Given the description of an element on the screen output the (x, y) to click on. 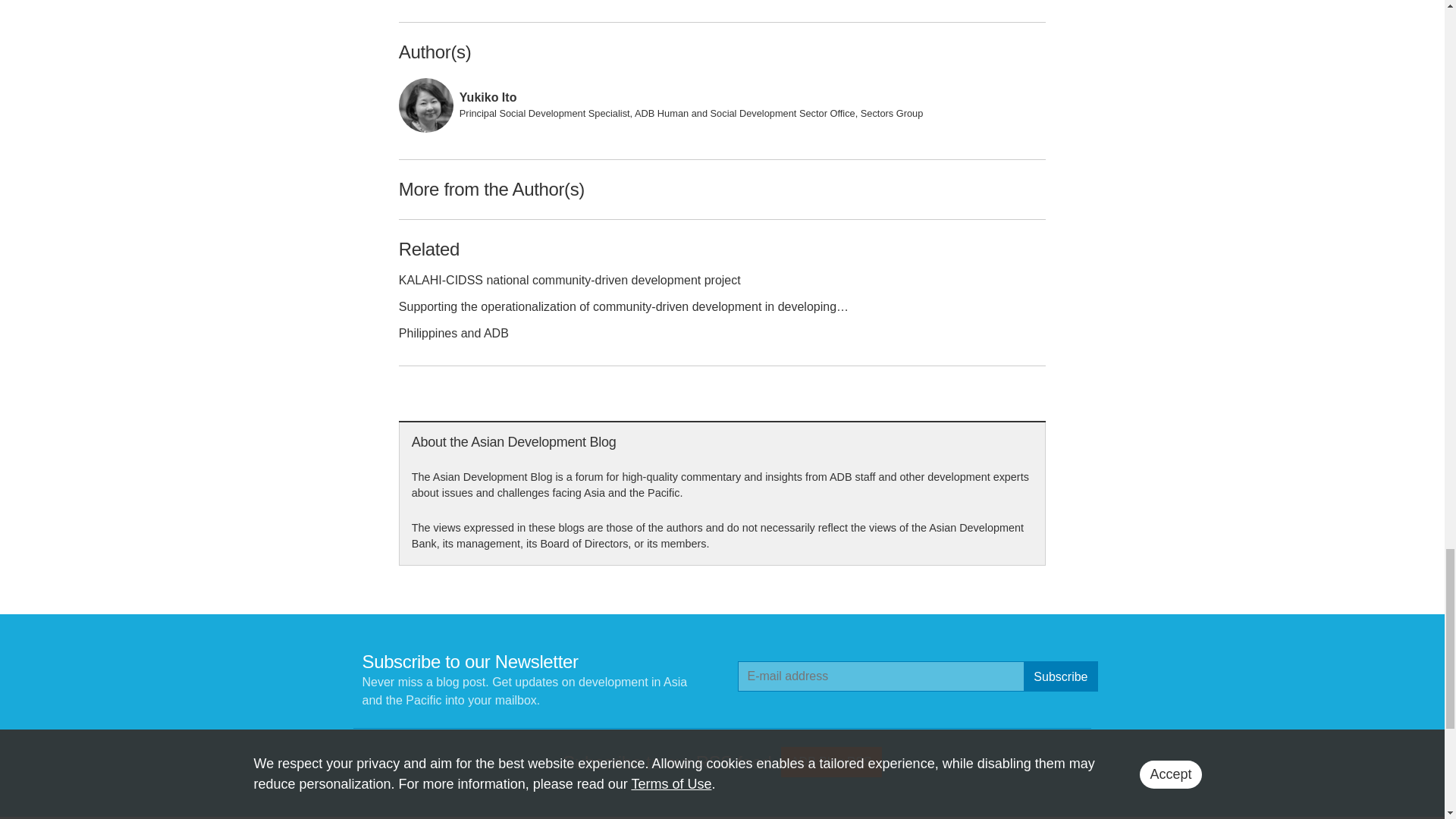
Subscribe (1060, 675)
